Given the description of an element on the screen output the (x, y) to click on. 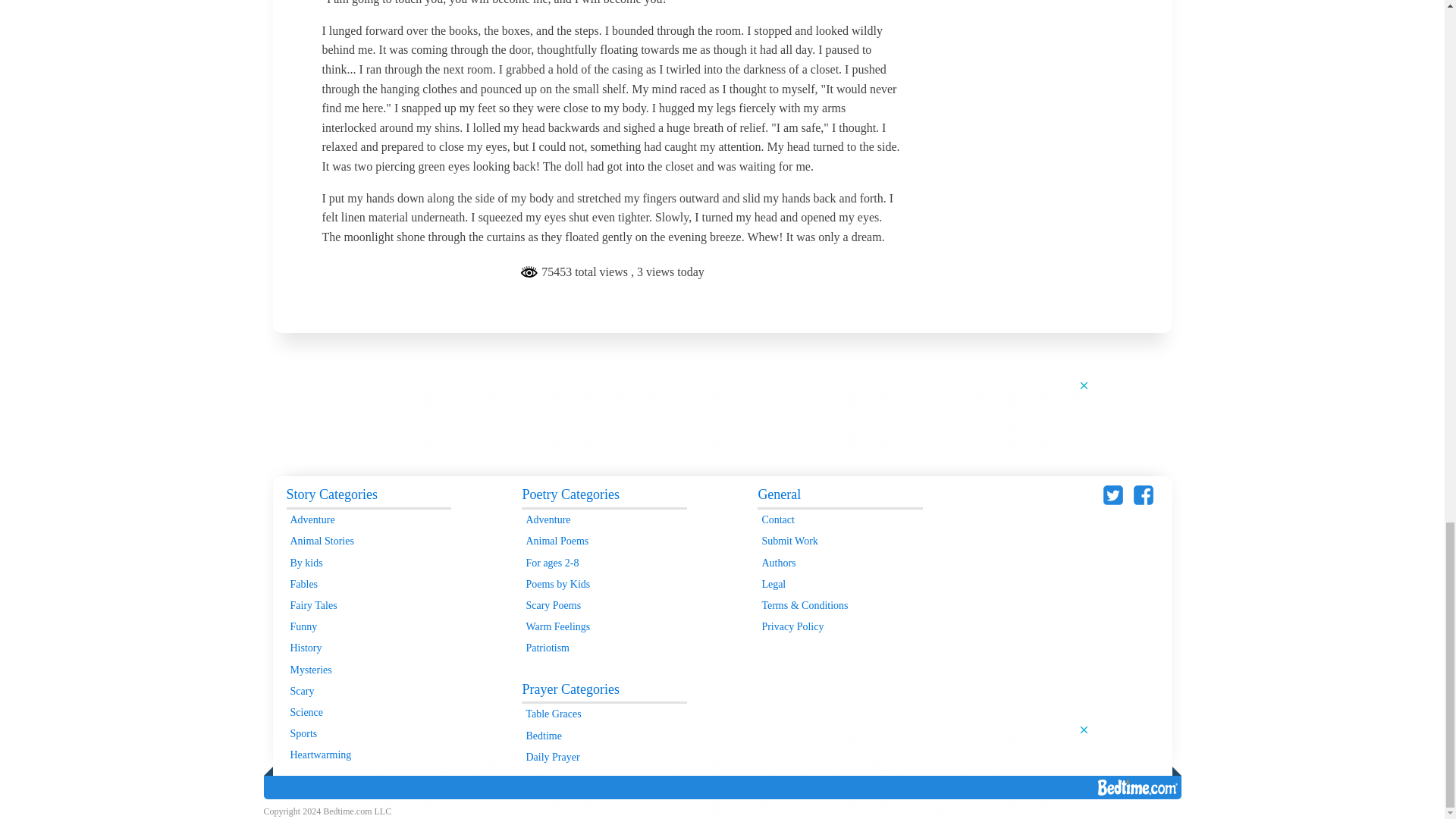
For ages 2-8 (603, 563)
Bedtime (603, 735)
3rd party ad content (722, 413)
Animal Poems (603, 541)
Heartwarming (368, 754)
Funny (368, 627)
By kids (368, 563)
Adventure (368, 519)
General (839, 496)
Animal Stories (368, 541)
Scary Poems (603, 605)
Fairy Tales (368, 605)
Warm Feelings (603, 627)
Authors (839, 563)
Fables (368, 584)
